Given the description of an element on the screen output the (x, y) to click on. 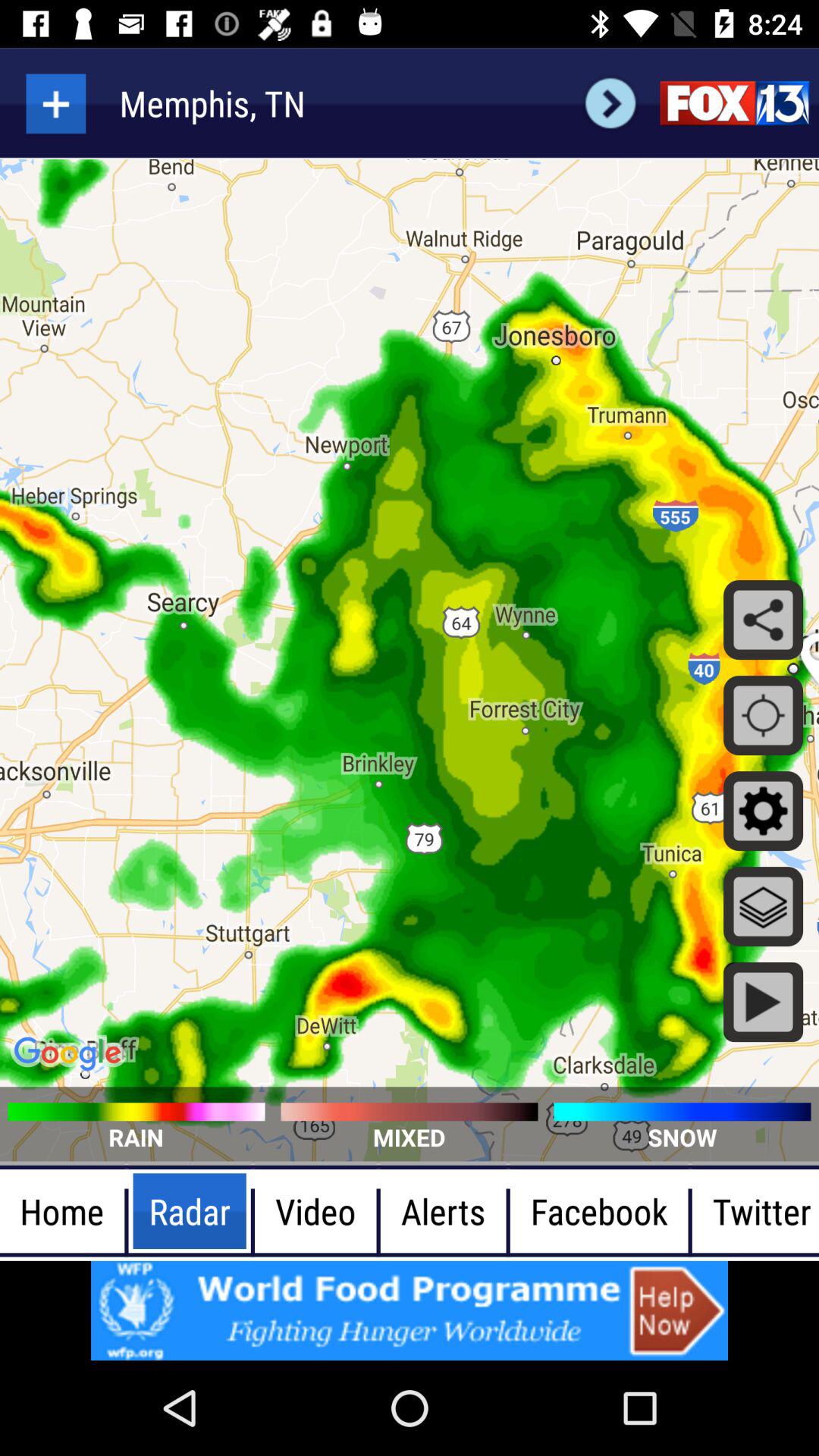
select the image above the text mixed on the web page (409, 1111)
click on the button below setting button (763, 906)
